Given the description of an element on the screen output the (x, y) to click on. 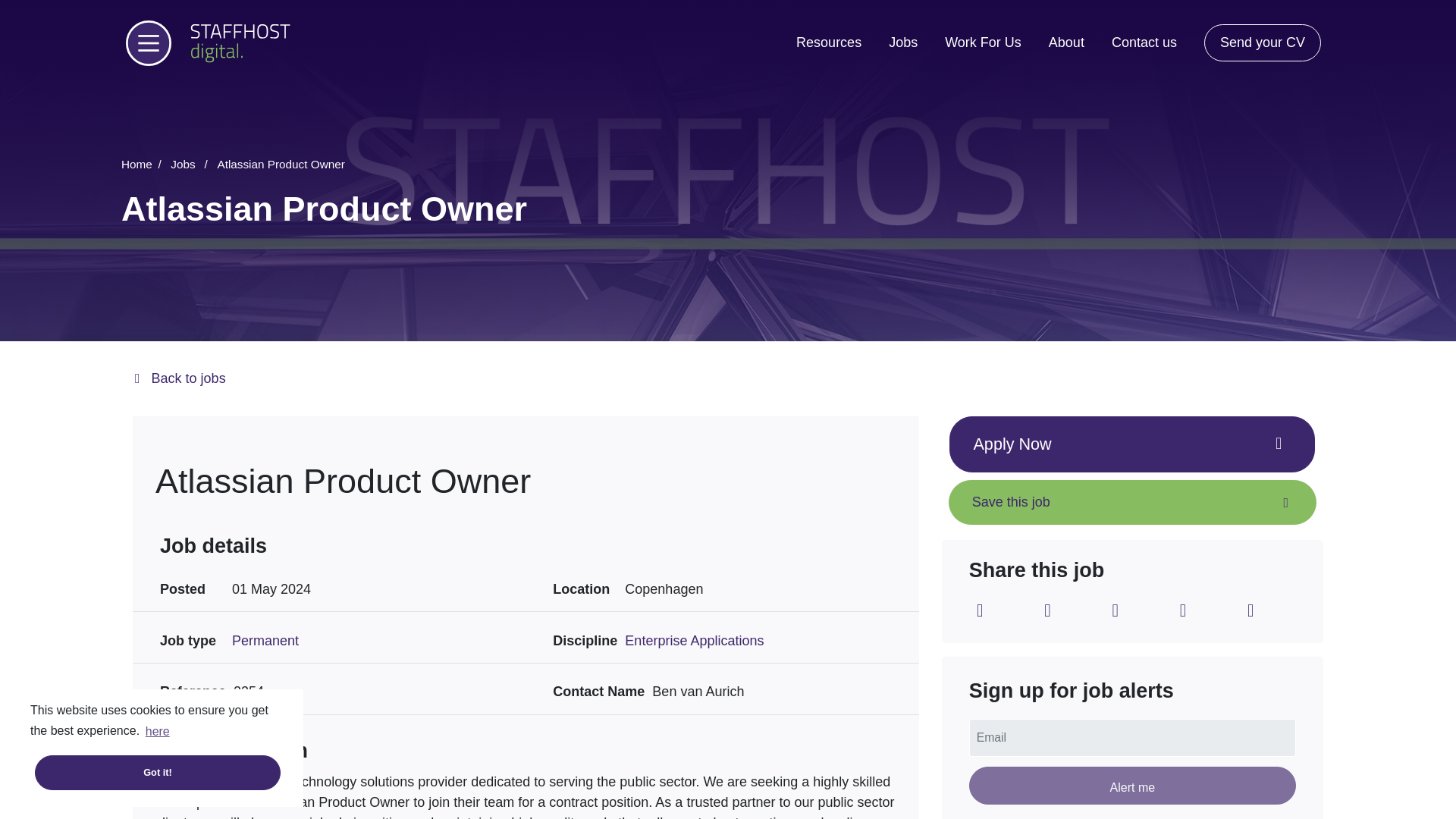
Back to jobs (727, 378)
Work For Us (983, 42)
here (156, 730)
About (1066, 42)
Permanent (264, 640)
Resources (828, 42)
Send your CV (1262, 42)
Home (143, 164)
Jobs (902, 42)
Jobs (191, 164)
Contact us (1144, 42)
Got it! (110, 771)
Atlassian Product Owner (279, 164)
